Given the description of an element on the screen output the (x, y) to click on. 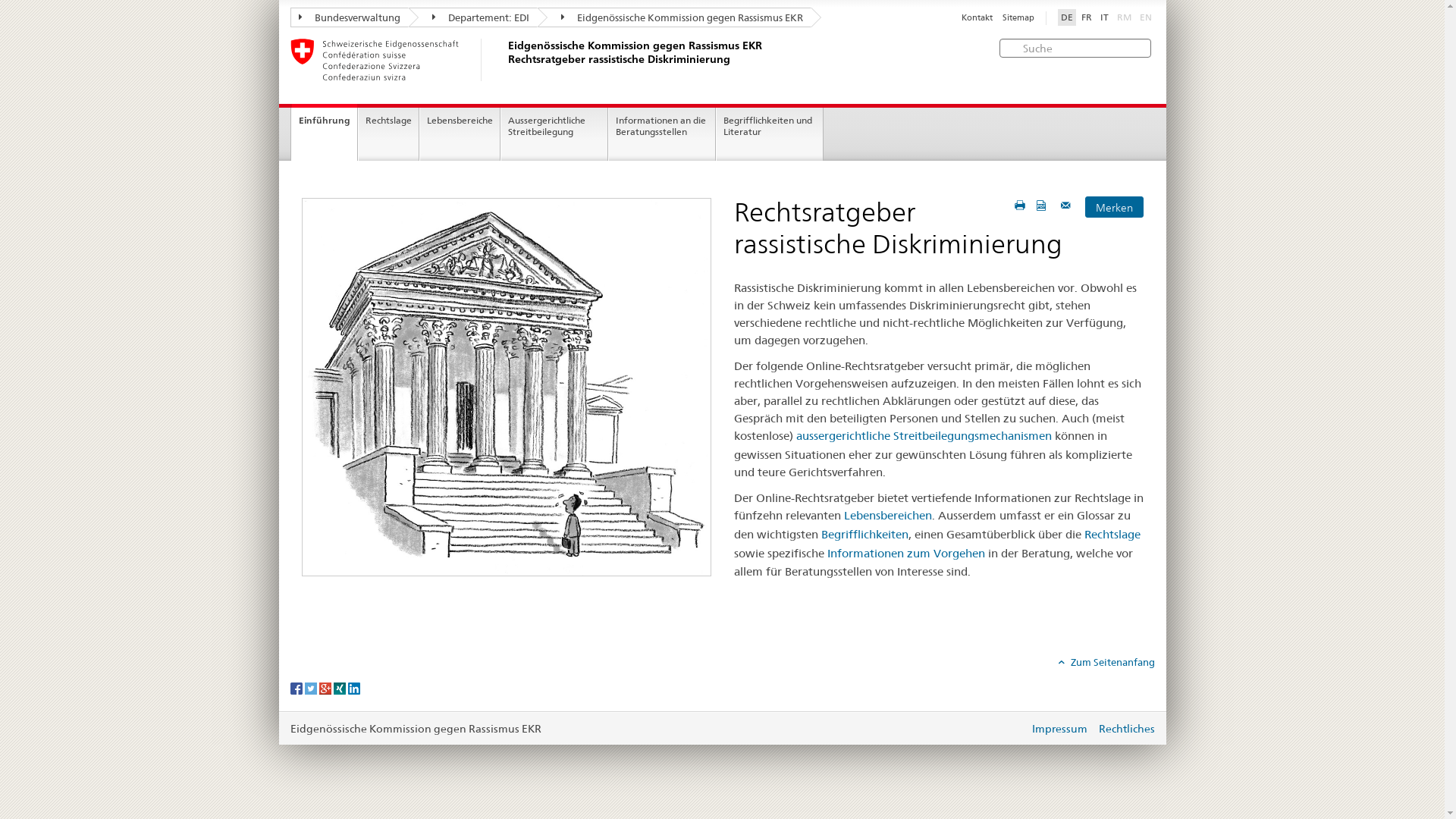
DE Element type: text (1066, 17)
Lebensbereiche Element type: text (459, 133)
Impressum Element type: text (1059, 728)
PDF Element type: hover (1042, 204)
FR Element type: text (1086, 17)
IT Element type: text (1103, 17)
aussergerichtliche Streitbeilegungsmechanismen Element type: text (923, 435)
Rechtliches Element type: text (1126, 728)
Sitemap Element type: text (1018, 17)
Begrifflichkeiten und Literatur Element type: text (768, 133)
Informationen zum Vorgehen Element type: text (905, 553)
Weiterleiten als E-Mail Element type: hover (1067, 204)
Zum Seitenanfang Element type: text (1106, 661)
Departement: EDI Element type: text (471, 17)
Drucken Element type: hover (1019, 204)
Kontakt Element type: text (976, 17)
Lebensbereichen Element type: text (887, 515)
Begrifflichkeiten Element type: text (863, 534)
Rechtslage Element type: text (387, 133)
Informationen an die Beratungsstellen Element type: text (661, 133)
Bundesverwaltung Element type: text (348, 17)
Aussergerichtliche Streitbeilegung Element type: text (553, 133)
Rechtslage Element type: text (1112, 534)
Merken Element type: text (1113, 206)
